Given the description of an element on the screen output the (x, y) to click on. 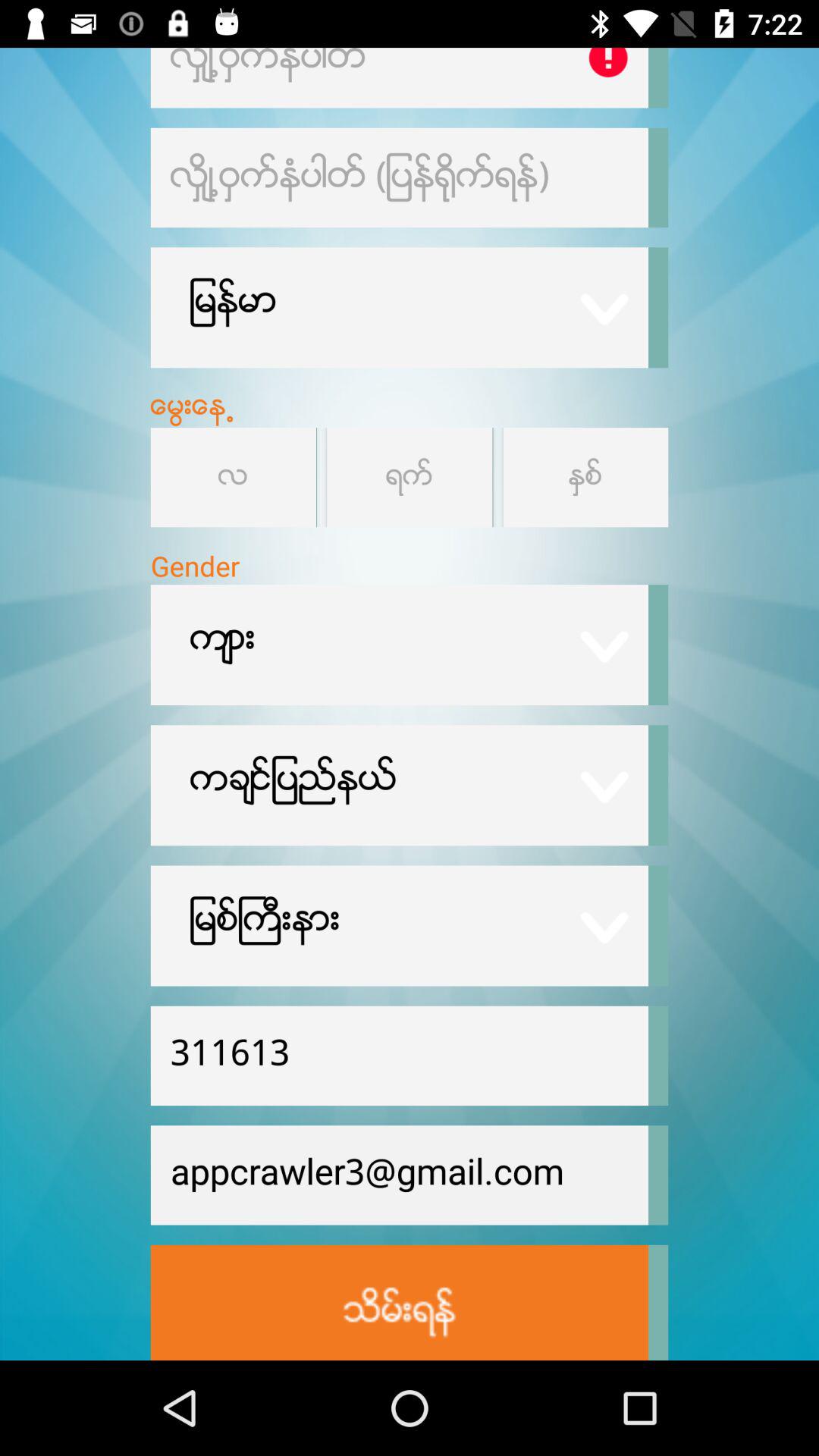
year (585, 477)
